Given the description of an element on the screen output the (x, y) to click on. 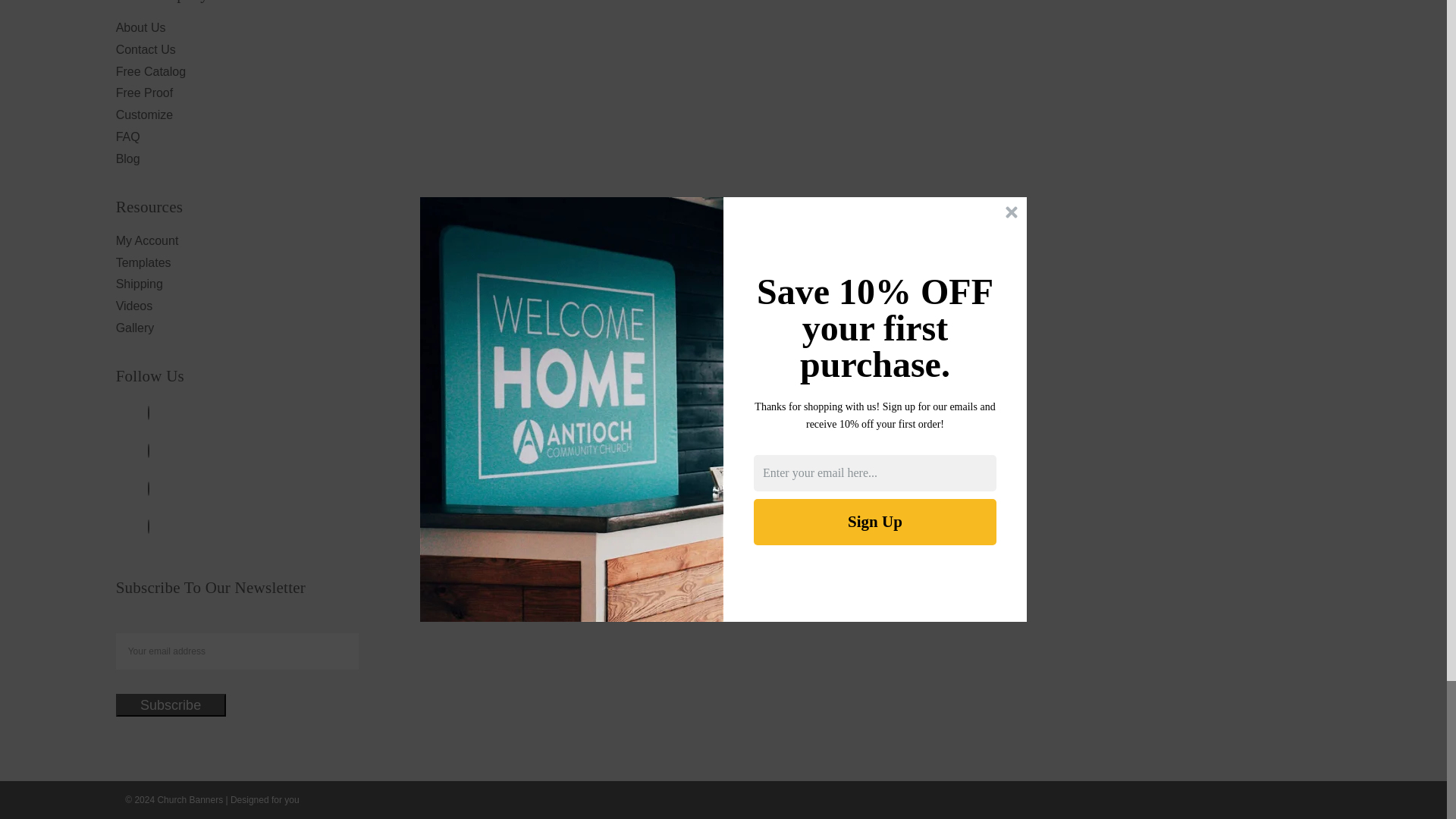
Subscribe (170, 704)
